Given the description of an element on the screen output the (x, y) to click on. 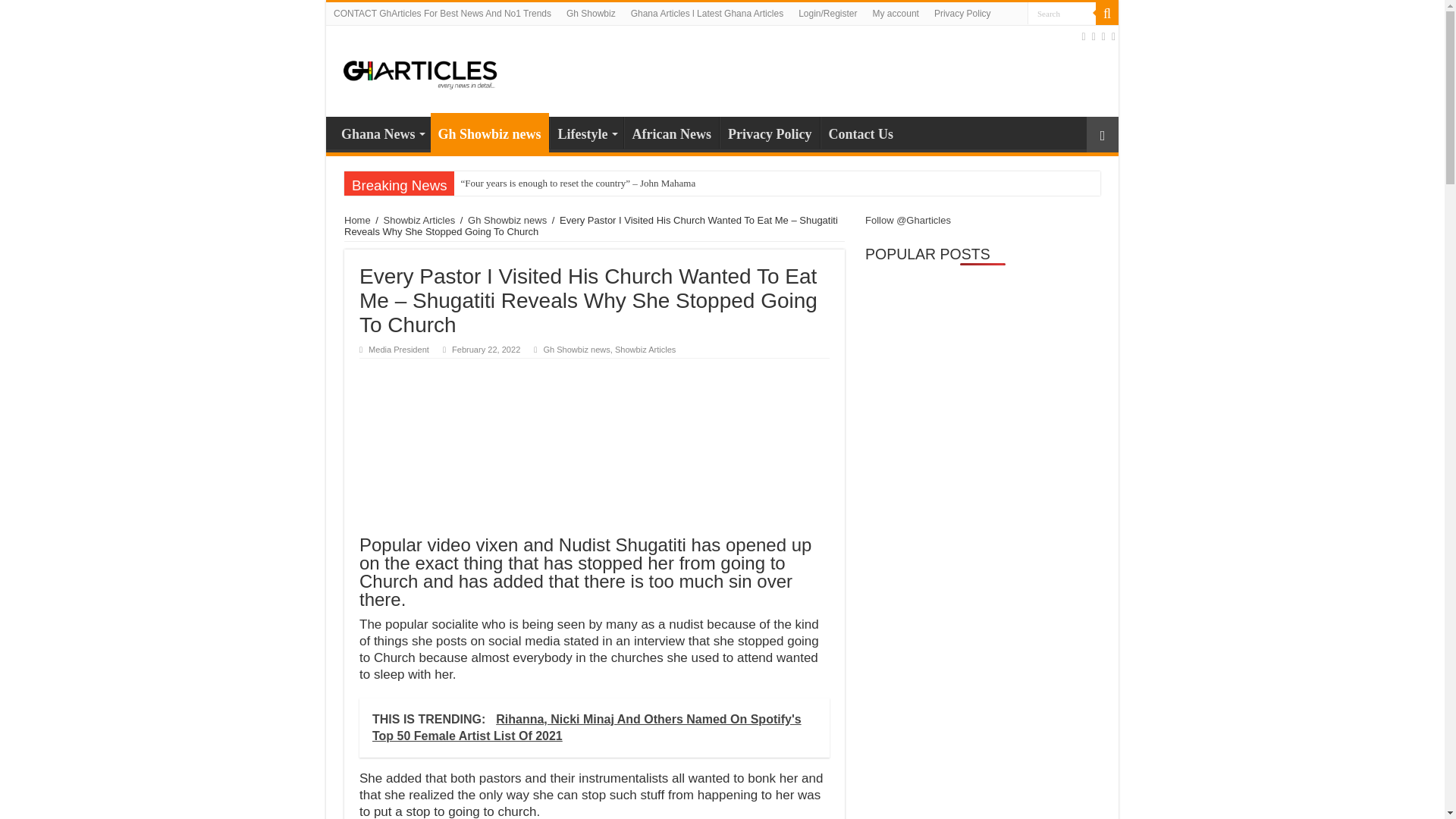
Lifestyle (586, 132)
Gh Showbiz (591, 13)
CONTACT GhArticles For Best News And No1 Trends (442, 13)
Privacy Policy (768, 132)
GhArticles.com (420, 70)
Contact Us (861, 132)
Privacy Policy (962, 13)
Search (1061, 13)
African News (671, 132)
Gh Showbiz news (489, 132)
Ghana Articles l Latest Ghana Articles (706, 13)
Search (1061, 13)
Search (1107, 13)
Ghana News (381, 132)
Search (1061, 13)
